Given the description of an element on the screen output the (x, y) to click on. 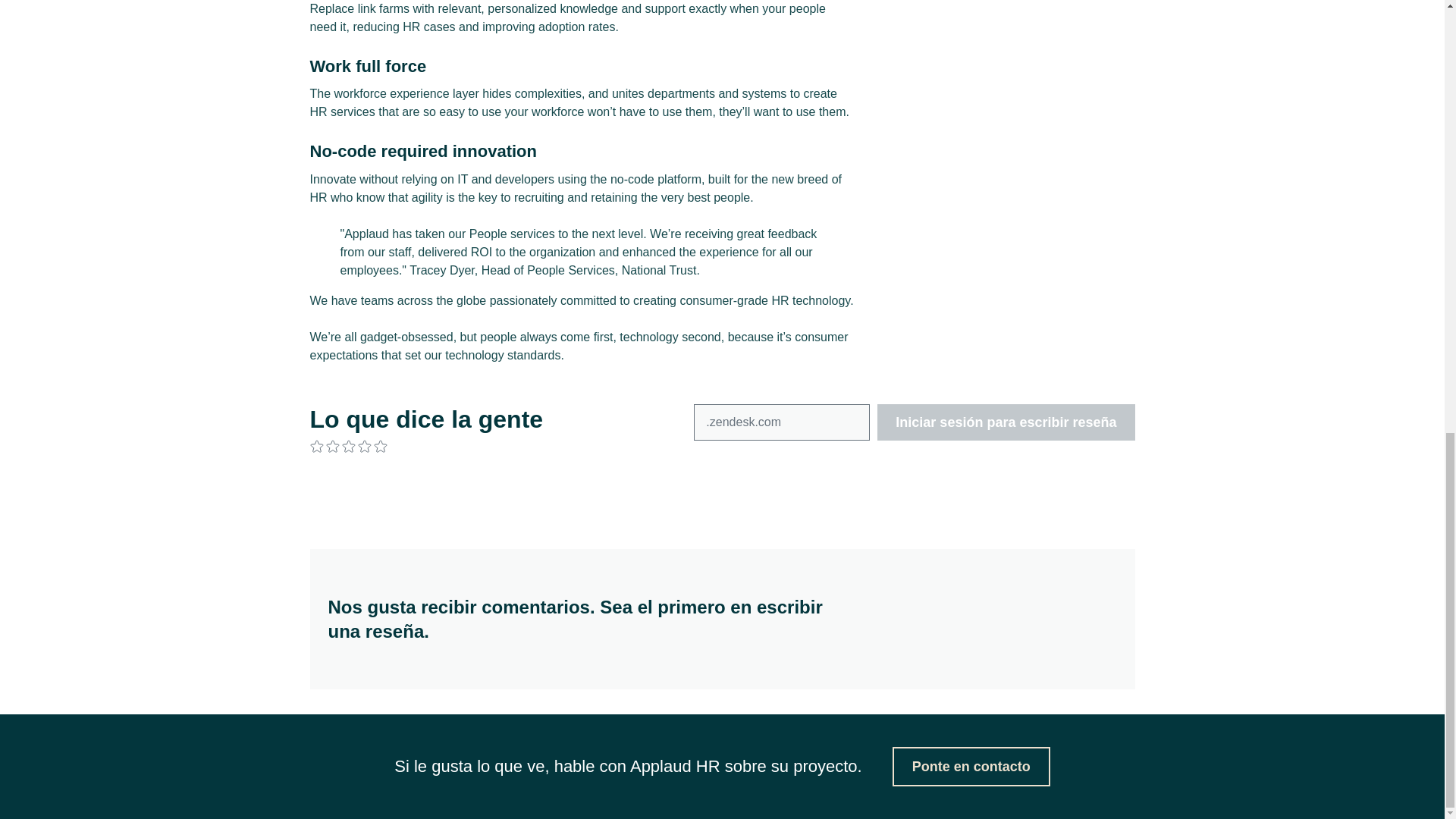
Ponte en contacto (970, 766)
